Given the description of an element on the screen output the (x, y) to click on. 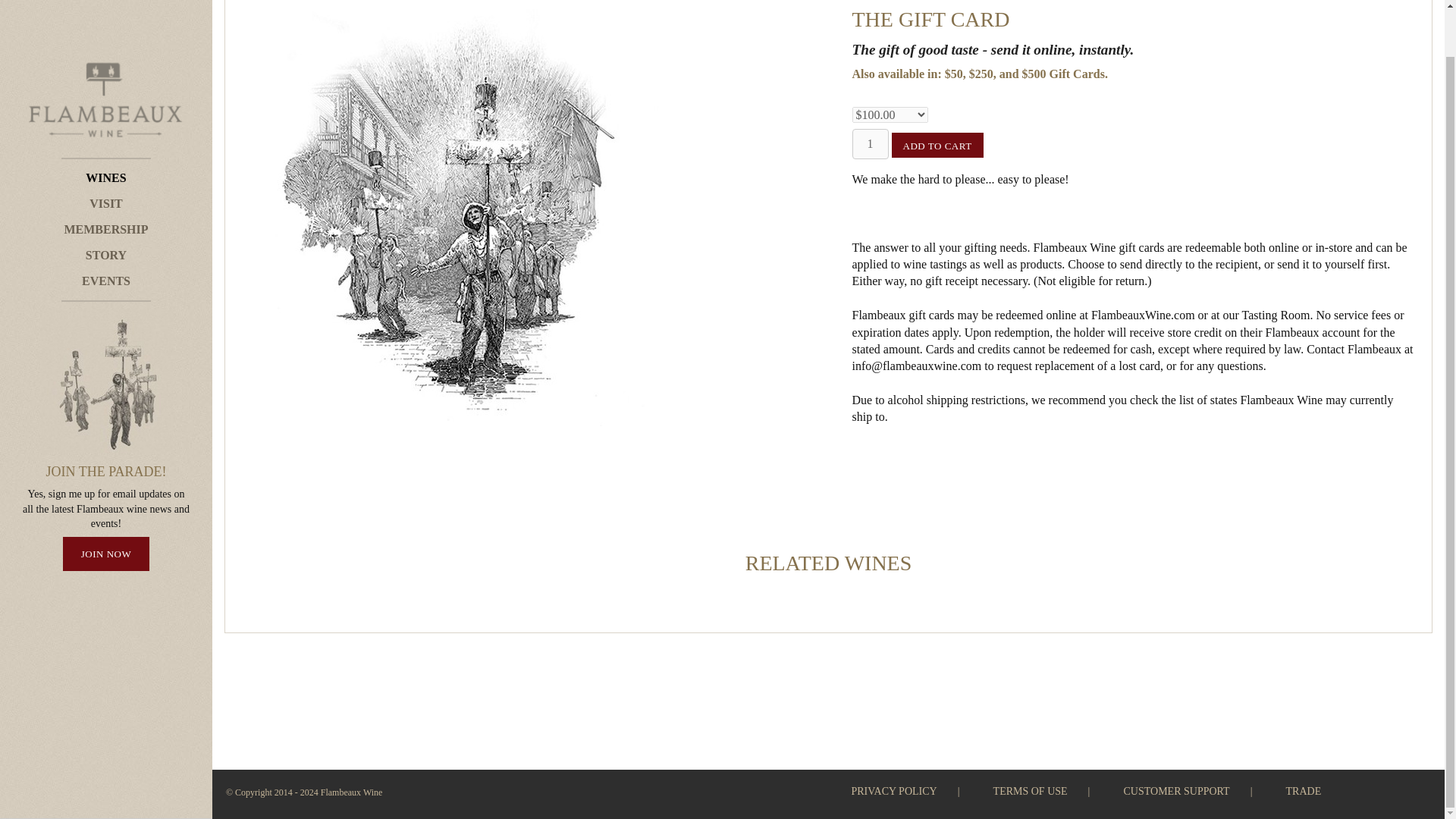
MEMBERSHIP (105, 180)
1 (869, 143)
Flambeaux Wine Home (106, 51)
EVENTS (105, 231)
ADD TO CART (937, 145)
CUSTOMER SUPPORT (1176, 791)
PRIVACY POLICY (893, 791)
VISIT (105, 154)
JOIN NOW (105, 504)
WINES (105, 128)
